Given the description of an element on the screen output the (x, y) to click on. 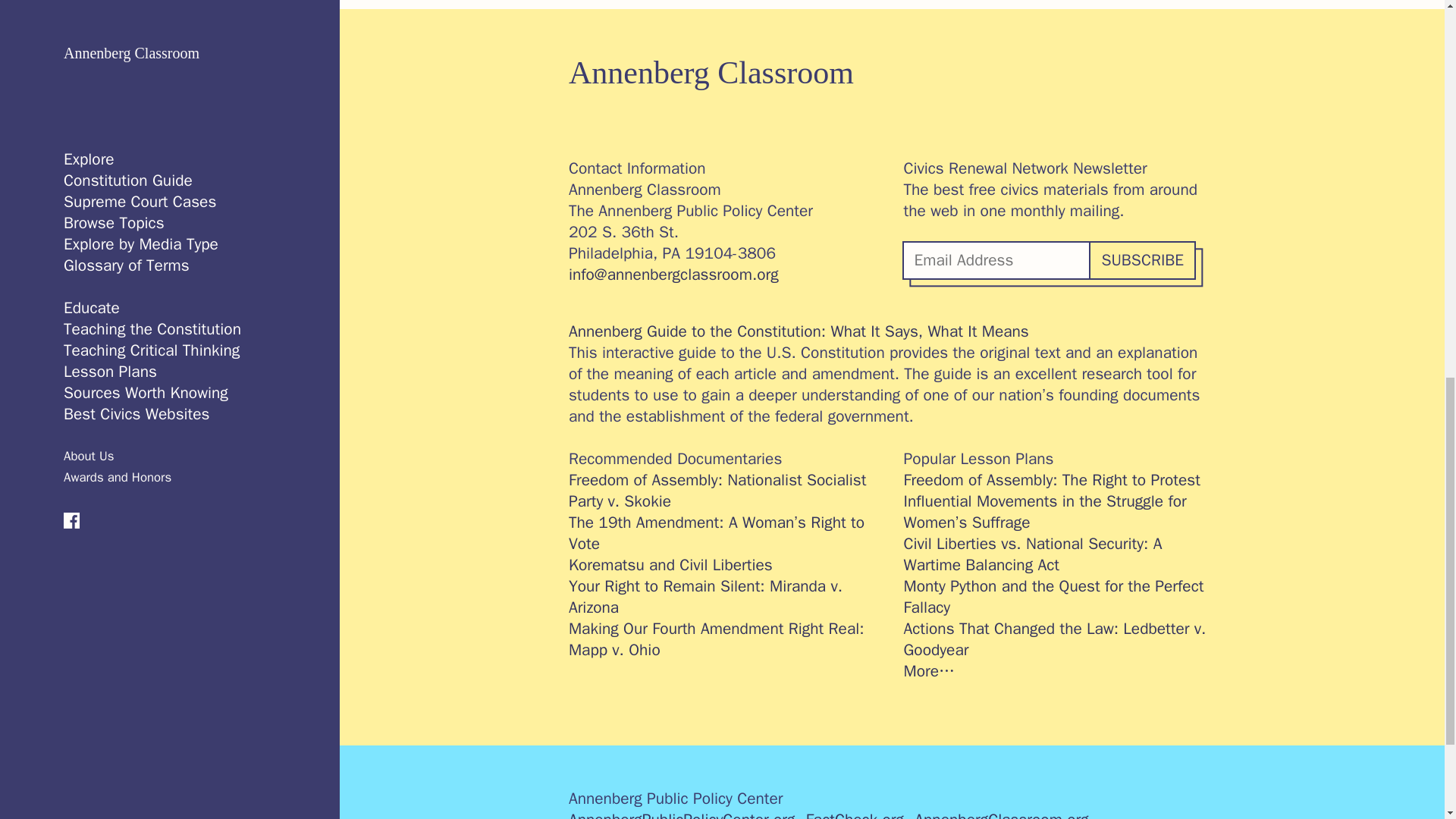
Freedom of Assembly: Nationalist Socialist Party v. Skokie (724, 490)
AnnenbergPublicPolicyCenter.org (681, 814)
The 19th Amendment: A Woman's Right to Vote (724, 532)
Subscribe (1141, 260)
Subscribe (1141, 260)
Making Our Fourth Amendment Right Real: Mapp v. Ohio (724, 639)
Actions That Changed the Law: Ledbetter v. Goodyear (1059, 639)
Korematsu and Civil Liberties (724, 564)
Freedom of Assembly: The Right to Protest (1059, 479)
Korematsu and Civil Liberties (724, 564)
Freedom of Assembly: Nationalist Socialist Party v. Skokie (724, 490)
Monty Python and the Quest for the Perfect Fallacy (1059, 596)
Your Right to Remain Silent: Miranda v. Arizona (724, 596)
